Given the description of an element on the screen output the (x, y) to click on. 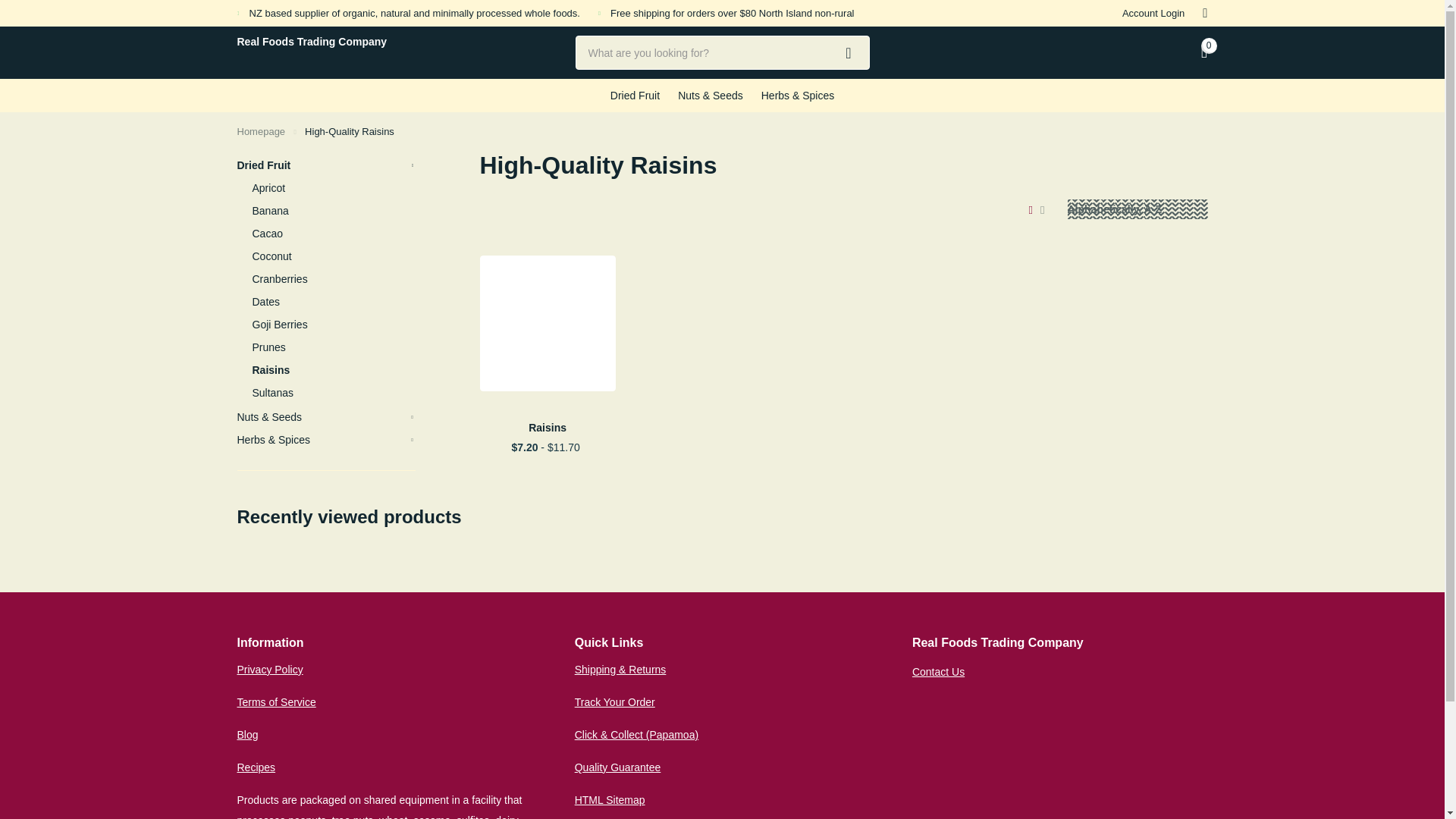
Dried Fruit (634, 95)
Home (260, 131)
Sultanas (332, 392)
Dried Fruit (324, 164)
Coconut (332, 255)
Quality Guarantee (618, 767)
Zoeken (848, 52)
Cranberries (332, 278)
Homepage (260, 131)
Cacao (332, 232)
Dates (332, 301)
Track Your Order (615, 702)
Raisins (546, 427)
Privacy Policy (268, 669)
Goji Berries (332, 323)
